Given the description of an element on the screen output the (x, y) to click on. 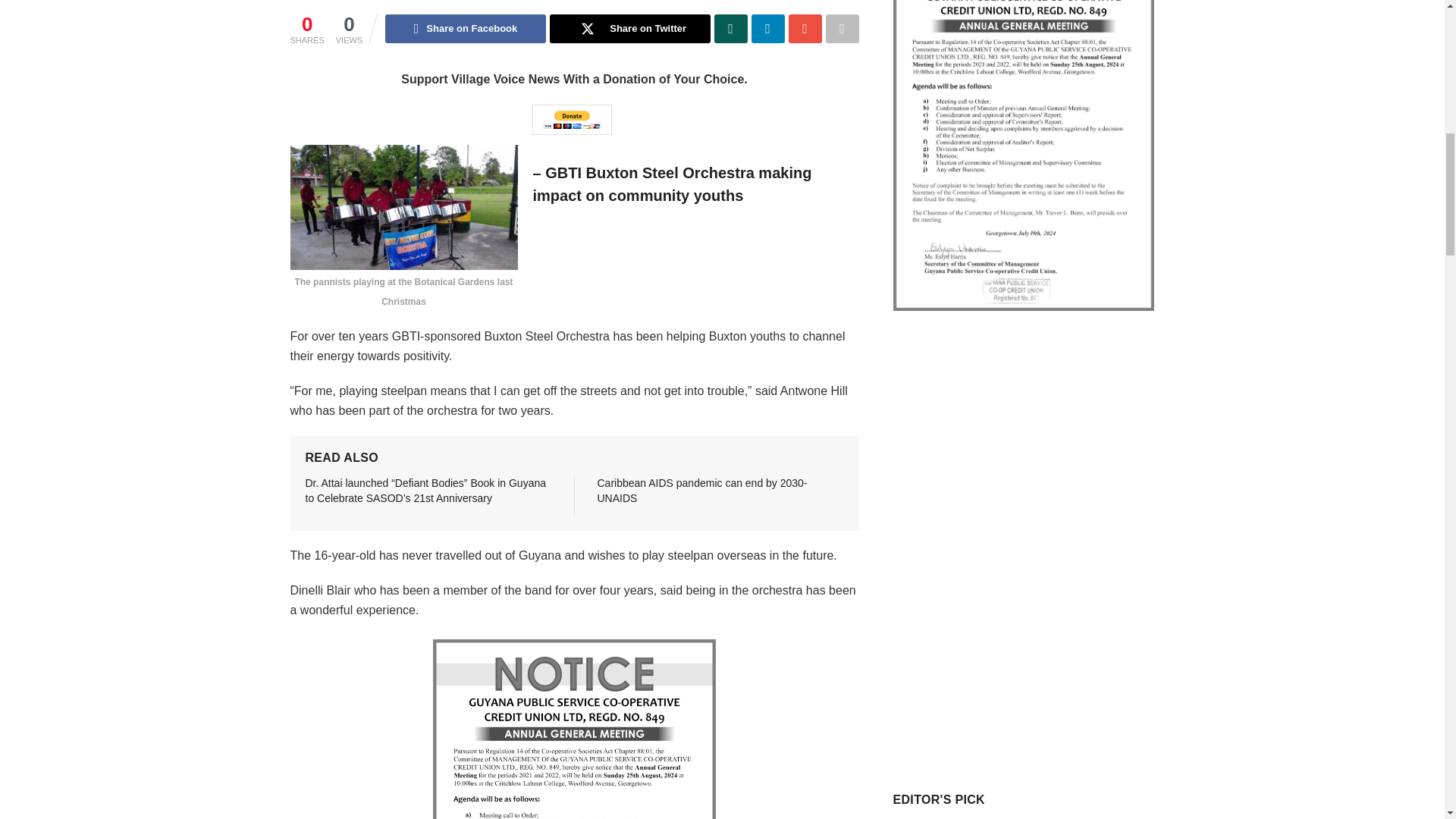
PayPal - The safer, easier way to pay online! (571, 119)
